Given the description of an element on the screen output the (x, y) to click on. 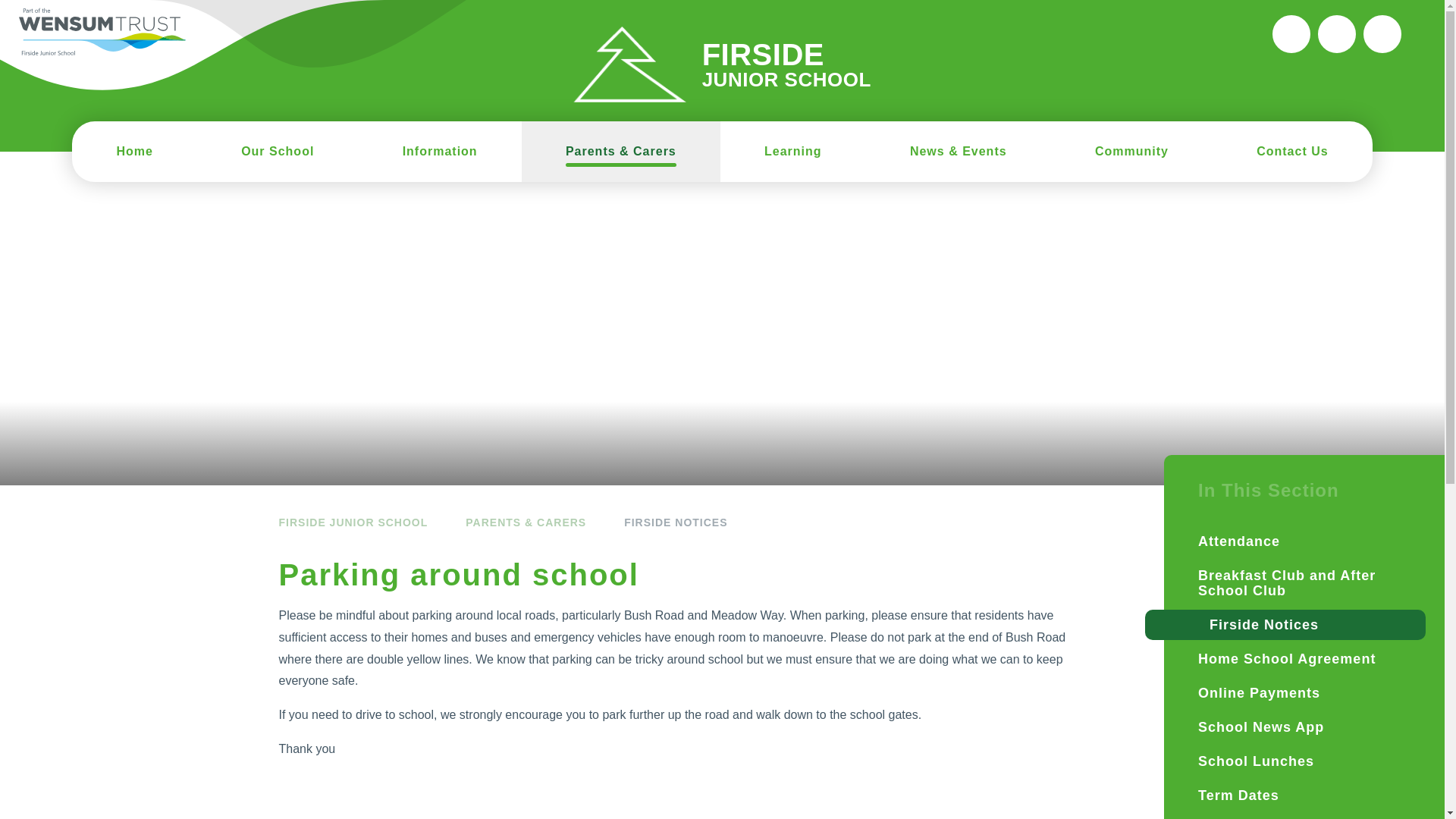
Wensum Trust (102, 32)
Information (439, 151)
Home (133, 151)
Our School (277, 151)
